Given the description of an element on the screen output the (x, y) to click on. 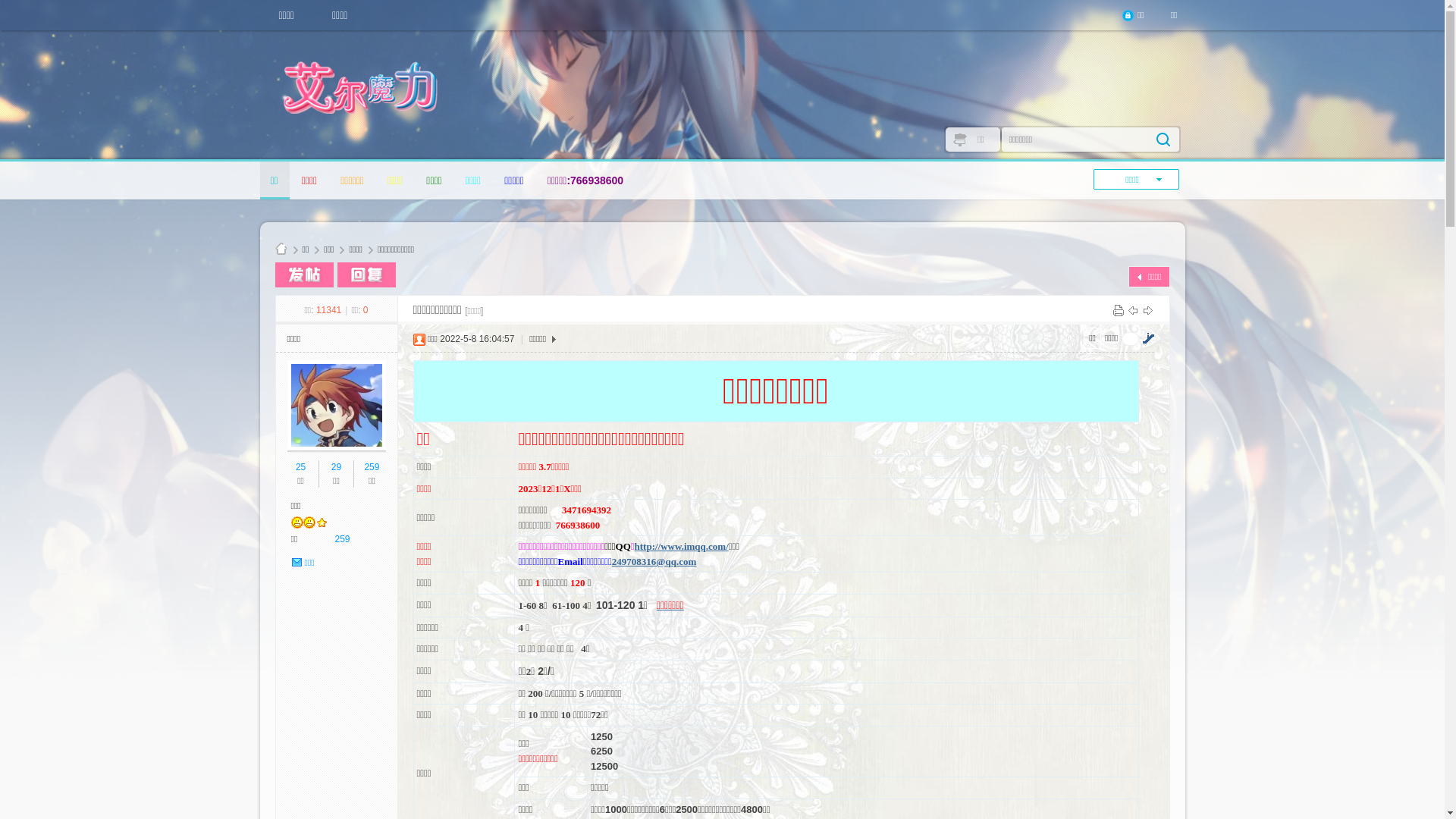
259 Element type: text (342, 538)
259 Element type: text (371, 466)
http://www.imqq.com/ Element type: text (681, 546)
true Element type: text (1162, 139)
29 Element type: text (336, 466)
25 Element type: text (300, 466)
249708316@qq.com Element type: text (653, 560)
